Given the description of an element on the screen output the (x, y) to click on. 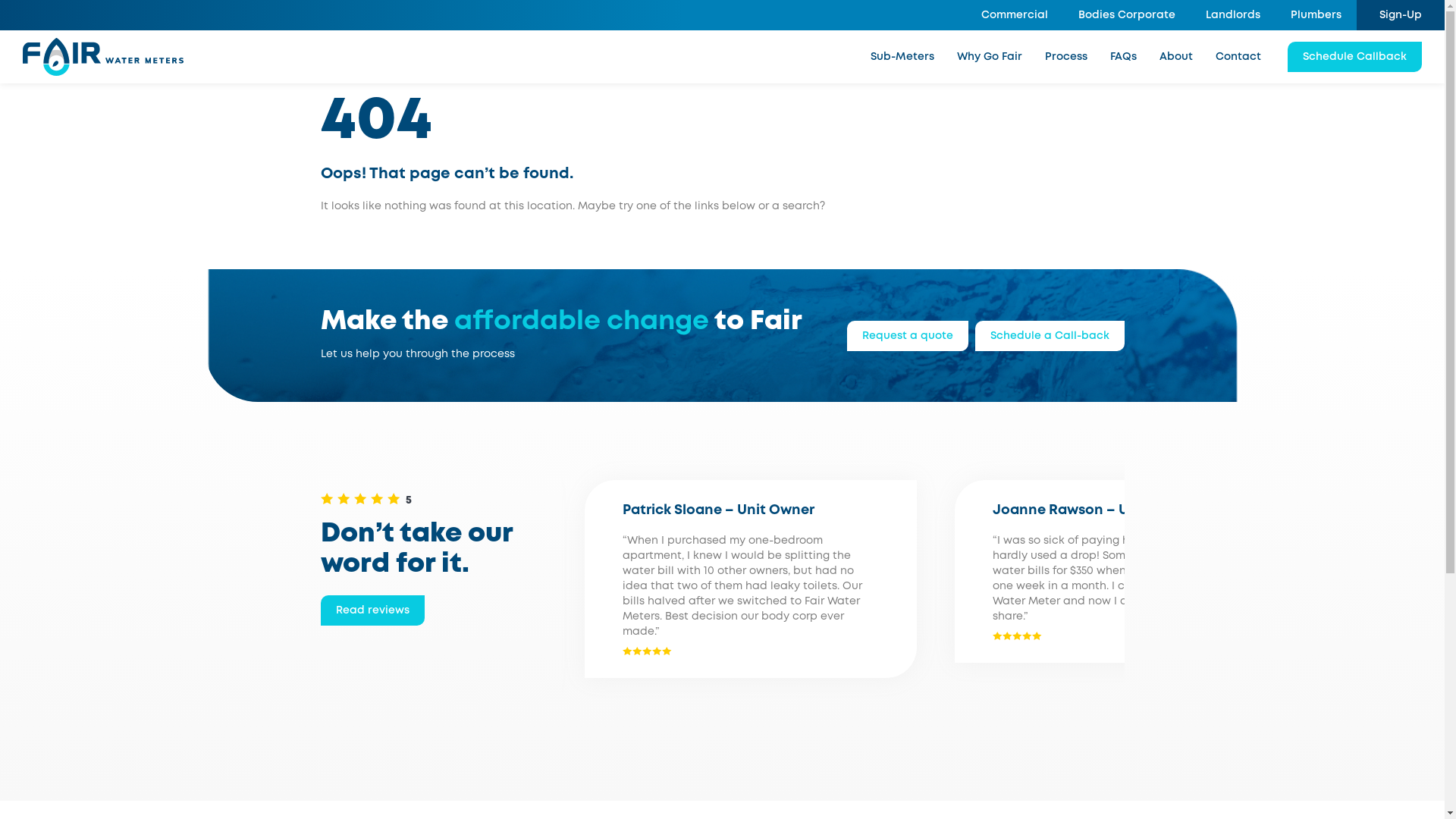
Sign-Up Element type: text (1400, 15)
Read reviews Element type: text (371, 610)
FAQs Element type: text (1123, 56)
Request a quote Element type: text (906, 335)
Plumbers Element type: text (1315, 14)
Landlords Element type: text (1232, 14)
Process Element type: text (1065, 56)
Commercial Element type: text (1014, 14)
Why Go Fair Element type: text (989, 56)
About Element type: text (1176, 56)
Sub-Meters Element type: text (902, 56)
Schedule a Call-back Element type: text (1049, 335)
Contact Element type: text (1238, 56)
Schedule Callback Element type: text (1354, 56)
Bodies Corporate Element type: text (1126, 14)
